Given the description of an element on the screen output the (x, y) to click on. 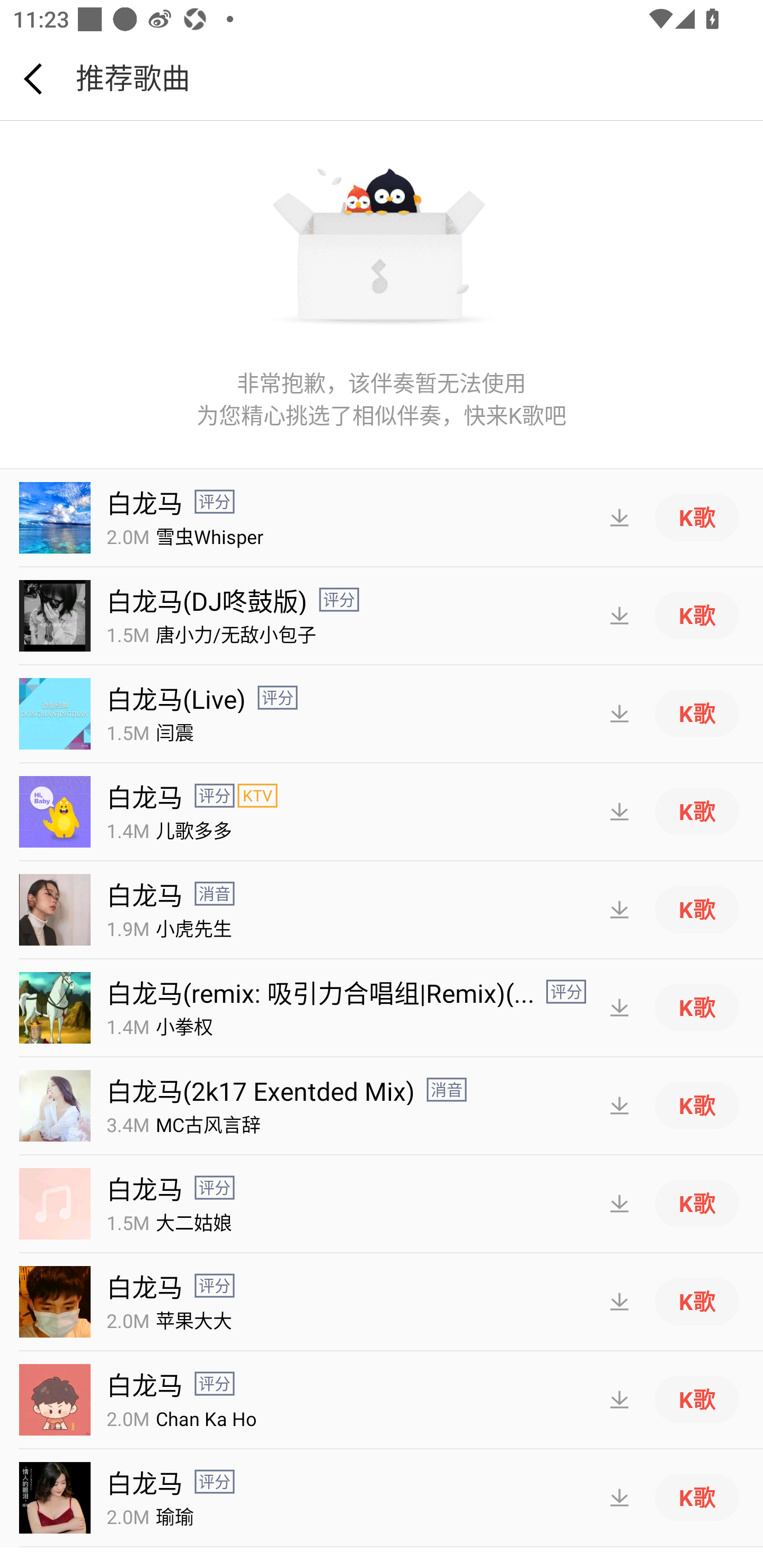
返回 (33, 78)
2.0M 雪虫Whisper K歌 (381, 517)
K歌 (696, 516)
1.5M 唐小力/无敌小包子 K歌 (381, 615)
K歌 (696, 615)
1.5M 闫震 K歌 (381, 713)
K歌 (696, 712)
1.4M 儿歌多多 K歌 (381, 811)
K歌 (696, 811)
1.9M 小虎先生 K歌 (381, 909)
K歌 (696, 908)
1.4M 小拳权 K歌 (381, 1007)
K歌 (696, 1007)
3.4M MC古风言辞 K歌 (381, 1105)
K歌 (696, 1104)
1.5M 大二姑娘 K歌 (381, 1203)
K歌 (696, 1203)
2.0M 苹果大大 K歌 (381, 1301)
K歌 (696, 1300)
2.0M Chan Ka Ho K歌 (381, 1399)
K歌 (696, 1399)
2.0M 瑜瑜 K歌 (381, 1497)
K歌 (696, 1496)
